Given the description of an element on the screen output the (x, y) to click on. 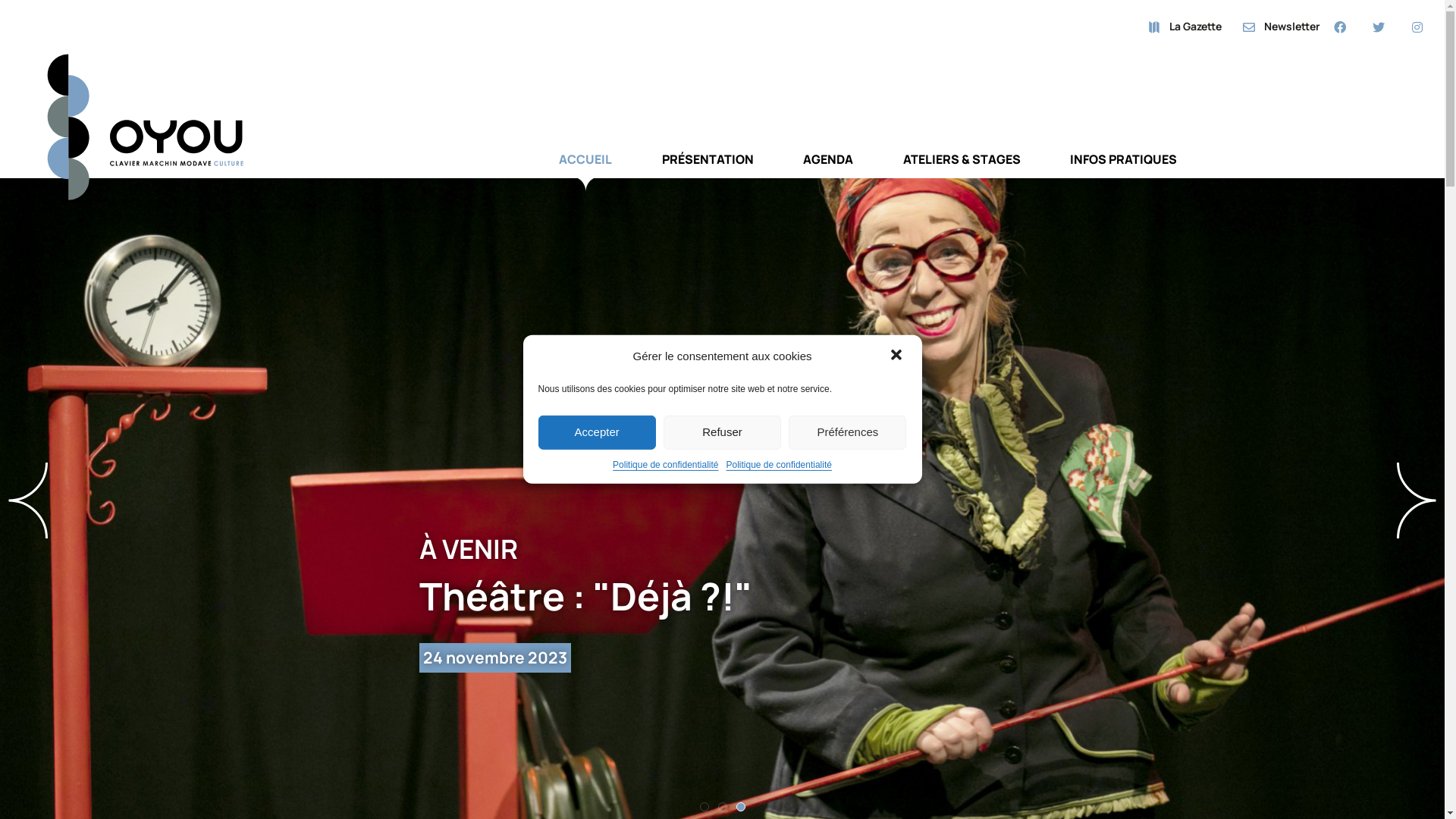
INFOS PRATIQUES Element type: text (1123, 170)
AGENDA Element type: text (827, 170)
Refuser Element type: text (722, 432)
Newsletter Element type: text (1281, 27)
ACCUEIL Element type: text (585, 170)
Accepter Element type: text (596, 432)
ATELIERS & STAGES Element type: text (961, 170)
La Gazette Element type: text (1184, 27)
